Given the description of an element on the screen output the (x, y) to click on. 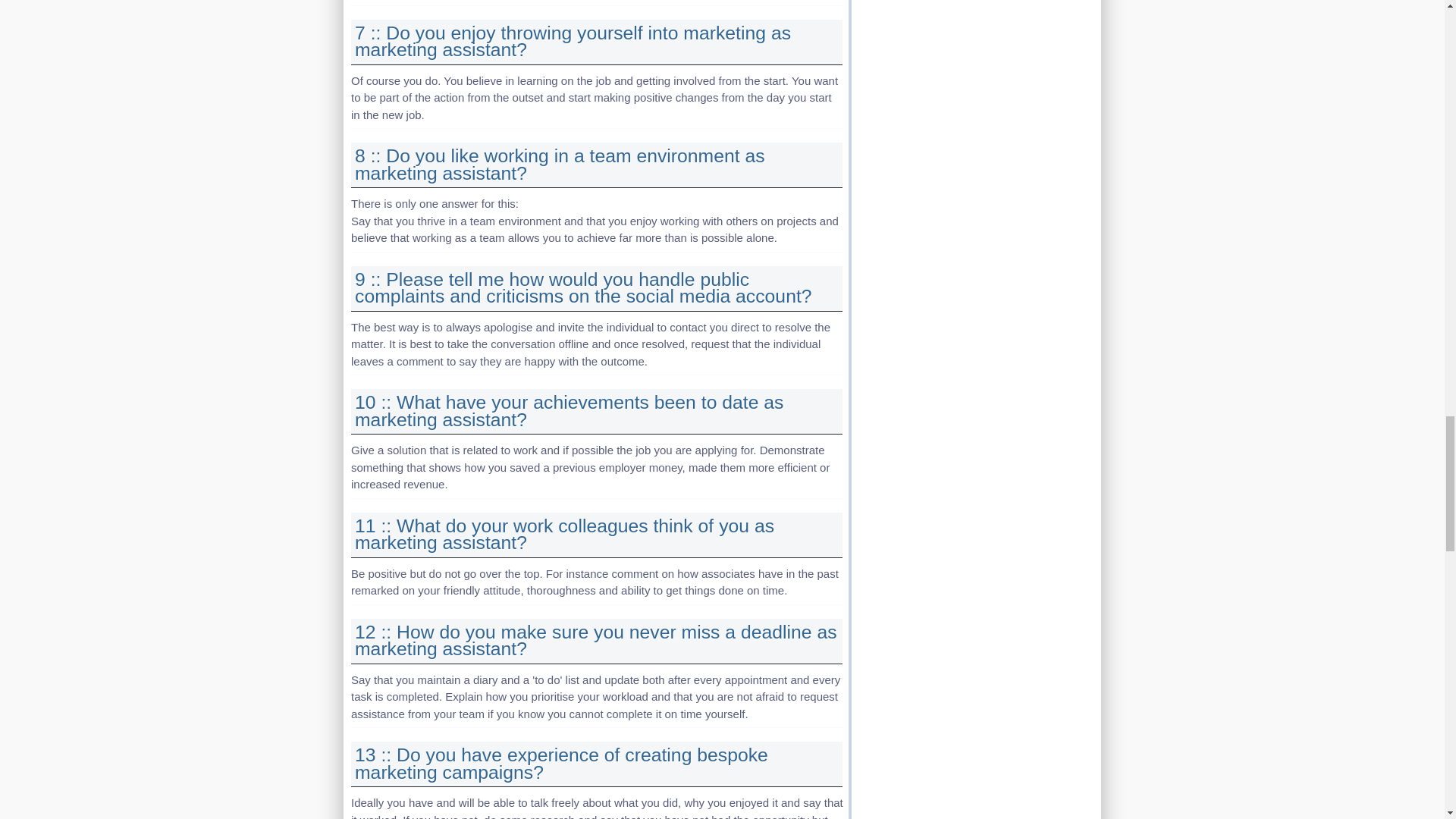
View all Answers (596, 640)
View all Answers (564, 534)
View all Answers (569, 410)
View all Answers (583, 288)
View all Answers (572, 41)
View all Answers (561, 763)
View all Answers (560, 164)
